Given the description of an element on the screen output the (x, y) to click on. 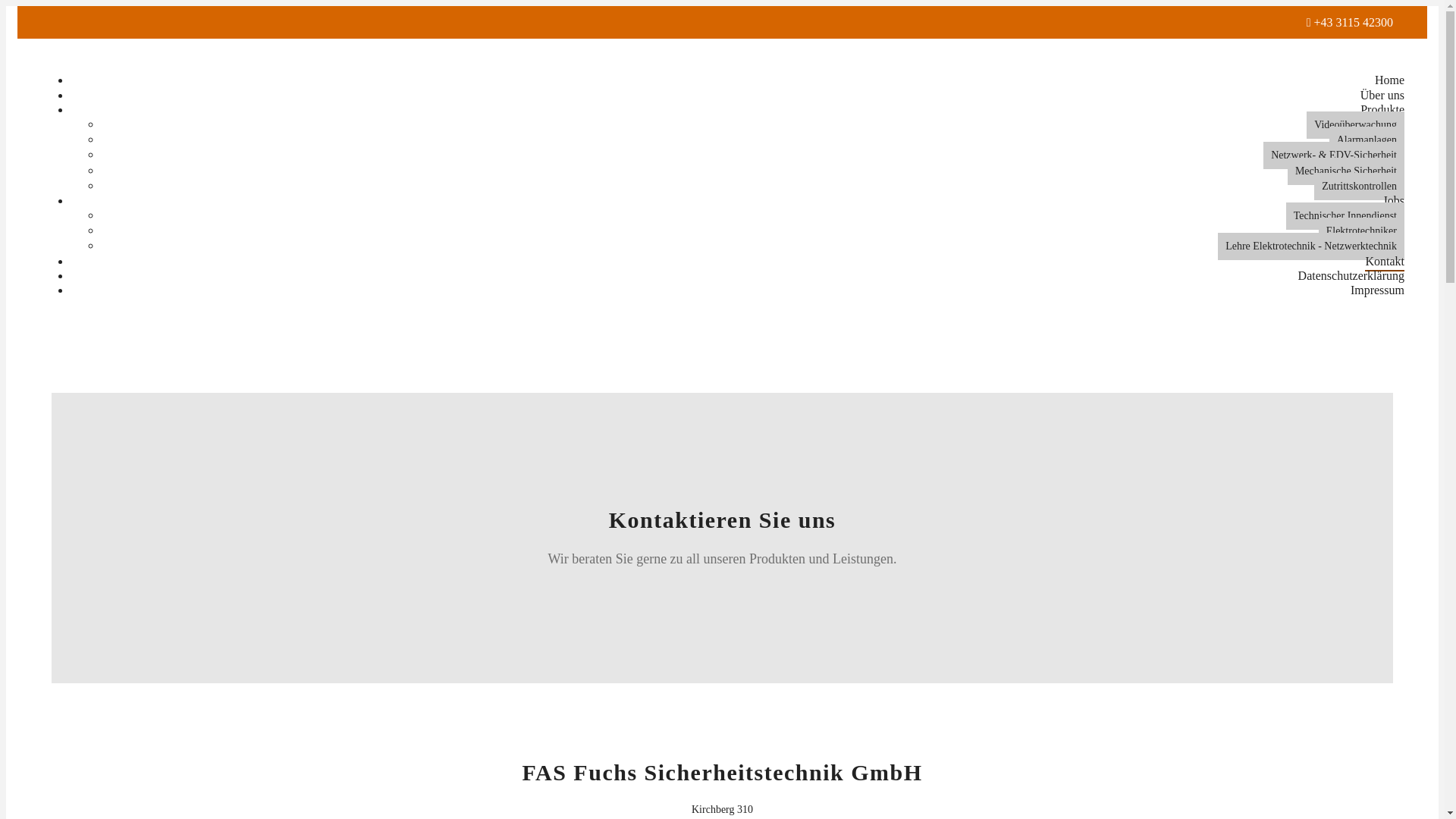
Jobs Element type: text (1393, 200)
Kontakt Element type: text (1384, 261)
+43 3115 42300 Element type: text (1353, 21)
Netzwerk- & EDV-Sicherheit Element type: text (1333, 155)
Logo Element type: hover (40, 53)
Home Element type: text (1389, 79)
Produkte Element type: text (1382, 109)
Lehre Elektrotechnik - Netzwerktechnik Element type: text (1310, 246)
Mechanische Sicherheit Element type: text (1345, 171)
Alarmanlagen Element type: text (1366, 139)
Zutrittskontrollen Element type: text (1359, 186)
Impressum Element type: text (1377, 289)
Technischer Innendienst Element type: text (1345, 215)
Elektrotechniker Element type: text (1361, 230)
